Given the description of an element on the screen output the (x, y) to click on. 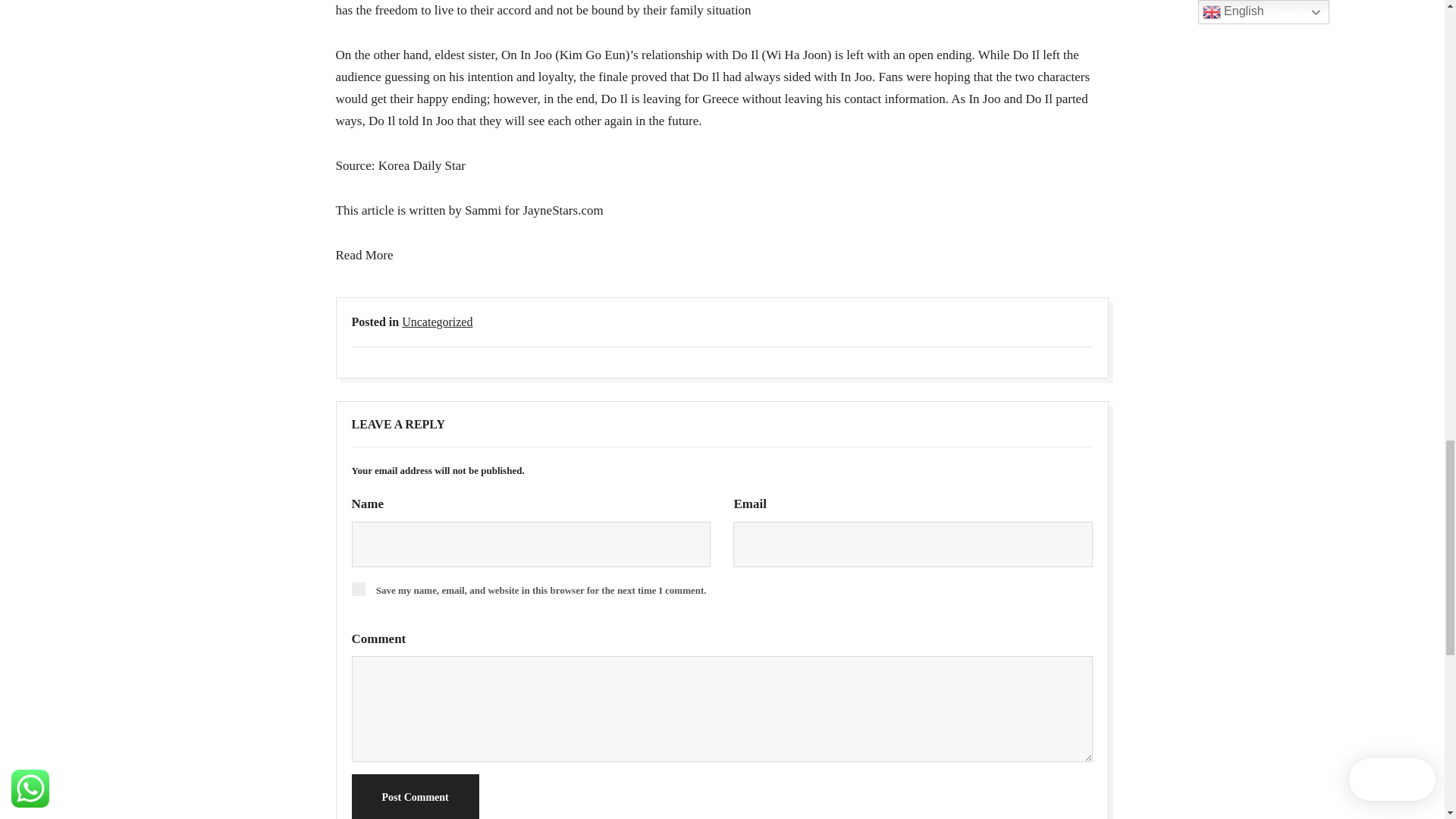
yes (358, 589)
